Given the description of an element on the screen output the (x, y) to click on. 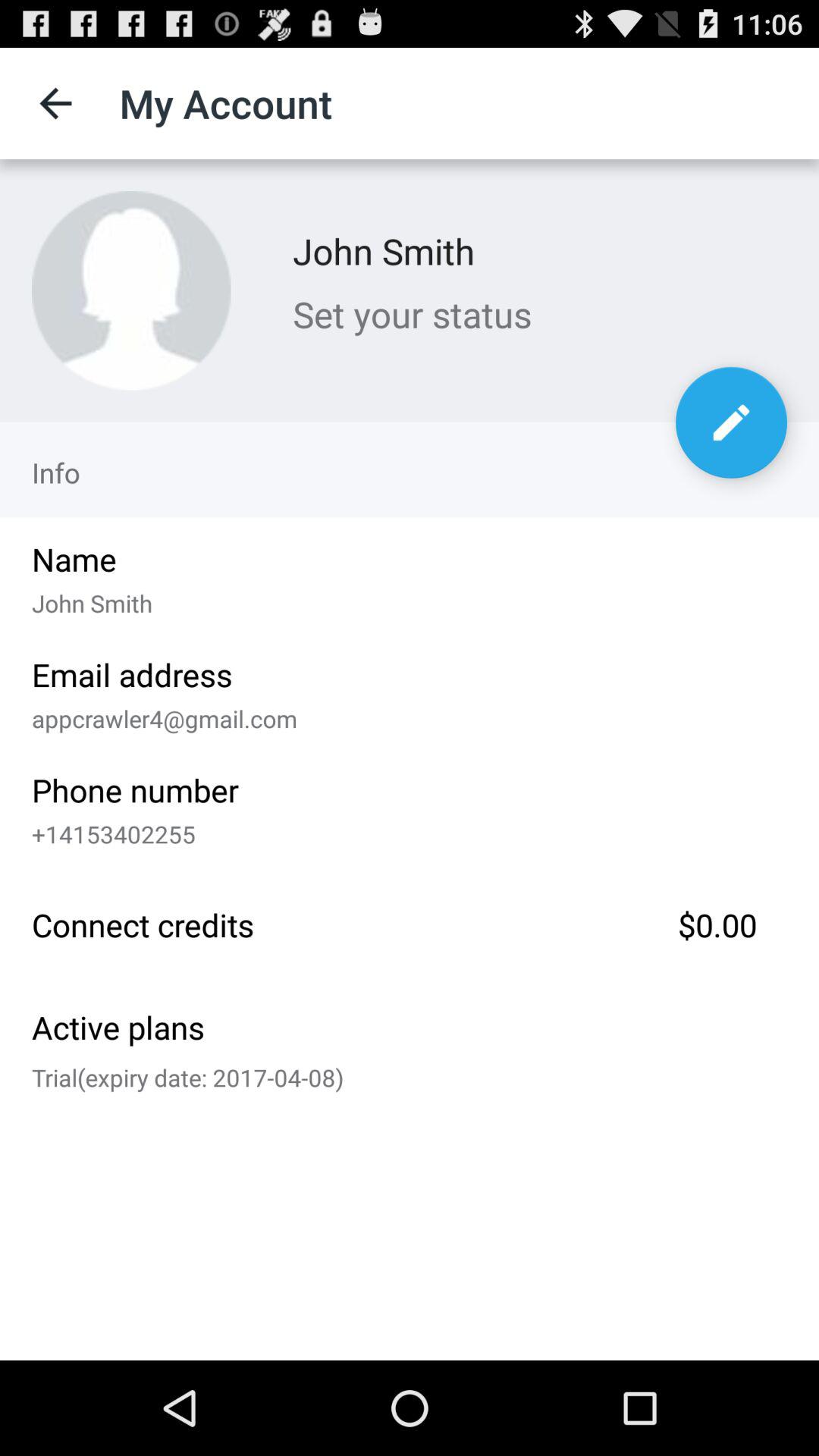
add remark (731, 422)
